Given the description of an element on the screen output the (x, y) to click on. 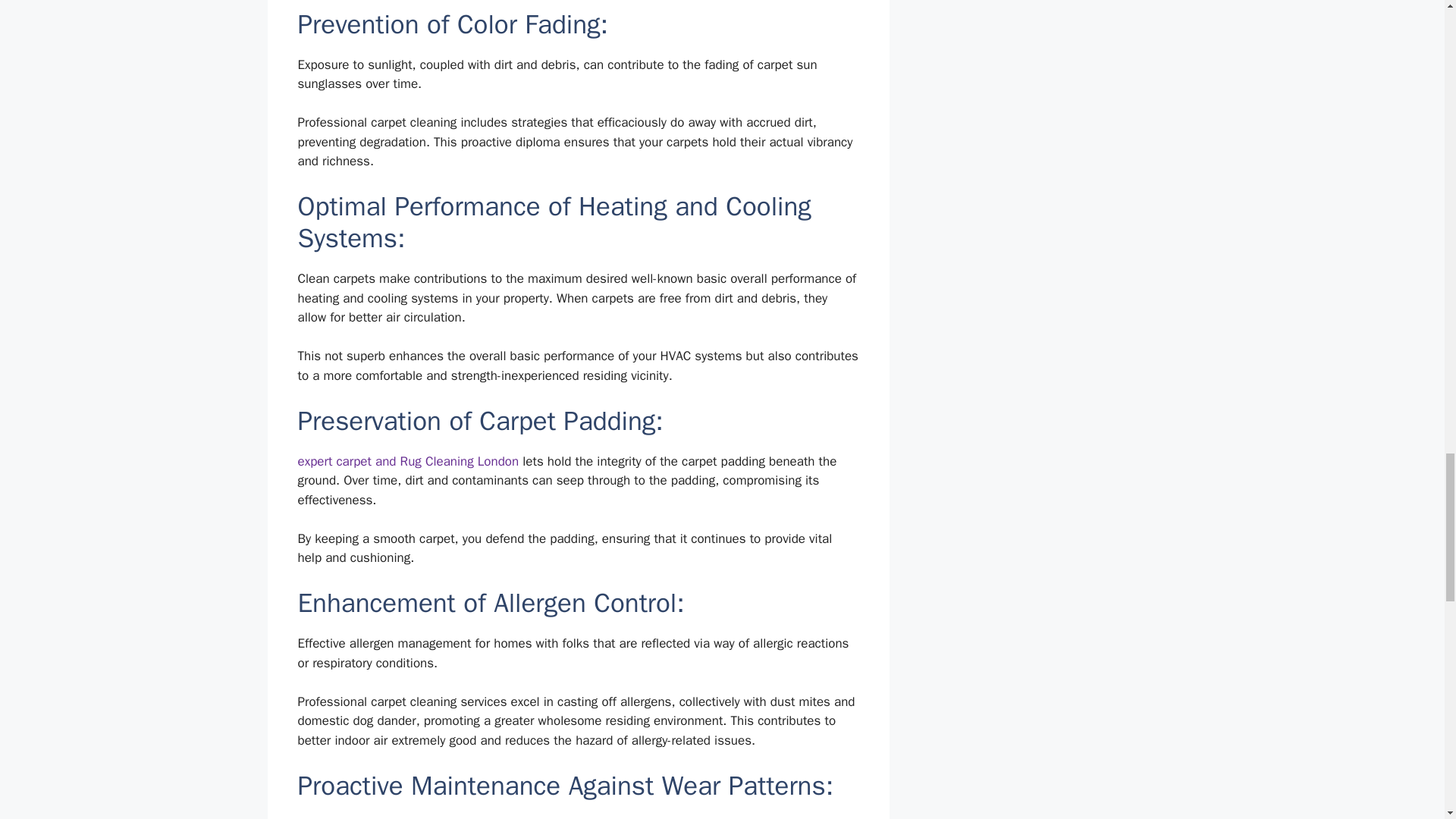
expert carpet and Rug Cleaning London (407, 461)
